Given the description of an element on the screen output the (x, y) to click on. 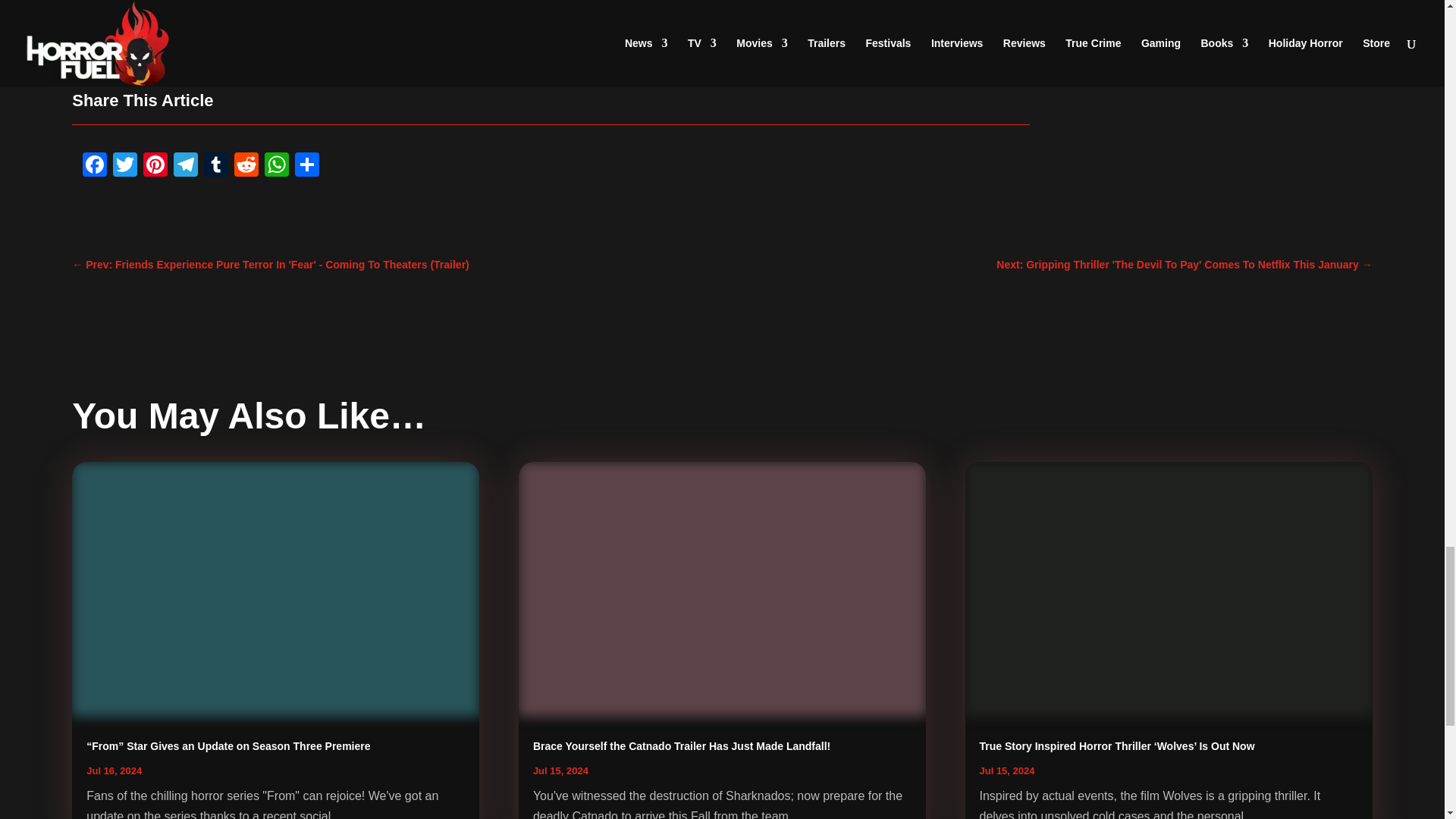
Pinterest (154, 167)
Twitter (124, 167)
Facebook (95, 167)
Telegram (185, 167)
